Given the description of an element on the screen output the (x, y) to click on. 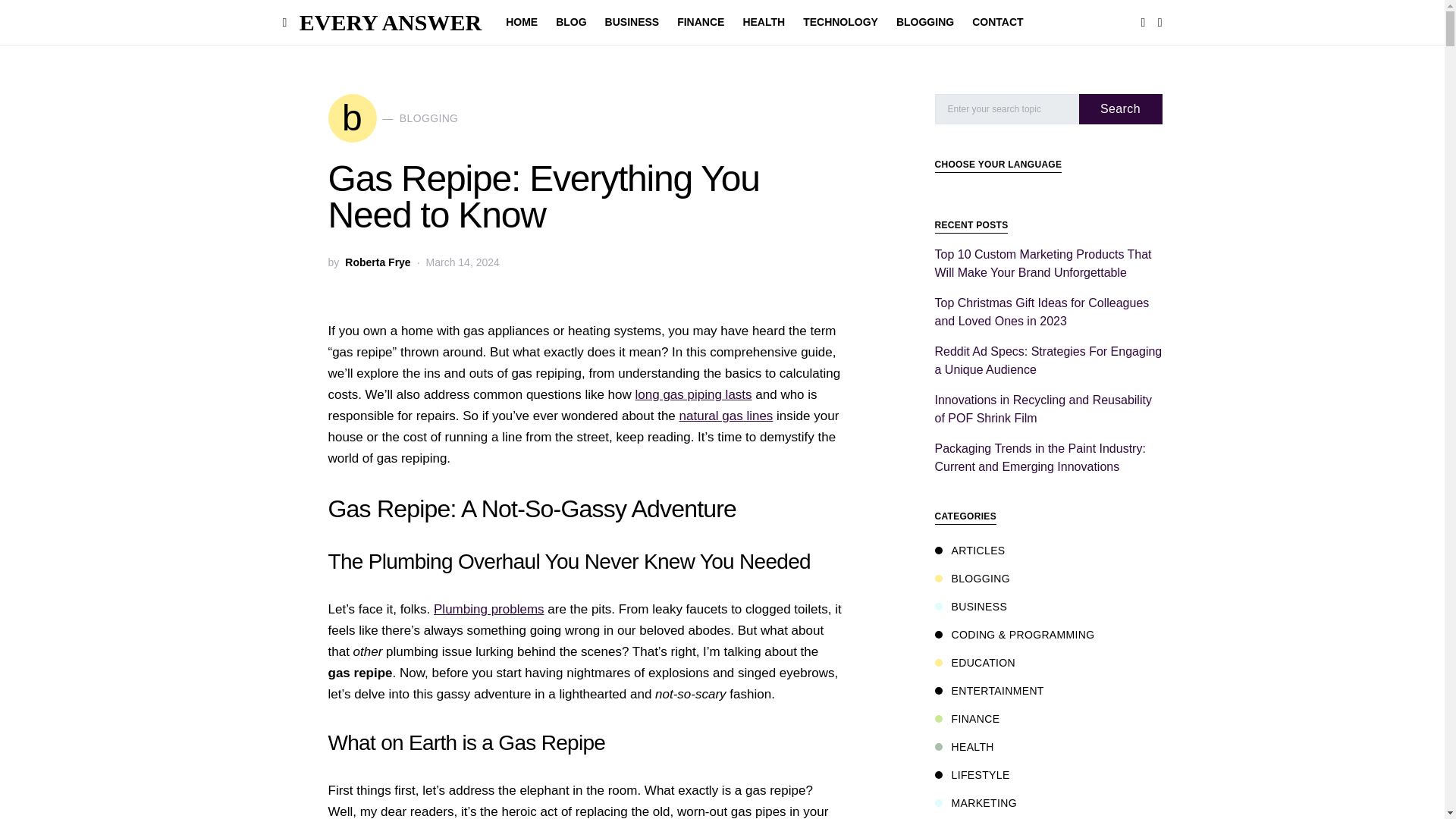
HEALTH (763, 22)
CONTACT (992, 22)
long gas piping lasts (693, 394)
TECHNOLOGY (839, 22)
EVERY ANSWER (390, 22)
FINANCE (700, 22)
natural gas lines (392, 118)
BLOG (726, 415)
Roberta Frye (571, 22)
HOME (377, 261)
BUSINESS (526, 22)
BLOGGING (631, 22)
View all posts by Roberta Frye (924, 22)
